Given the description of an element on the screen output the (x, y) to click on. 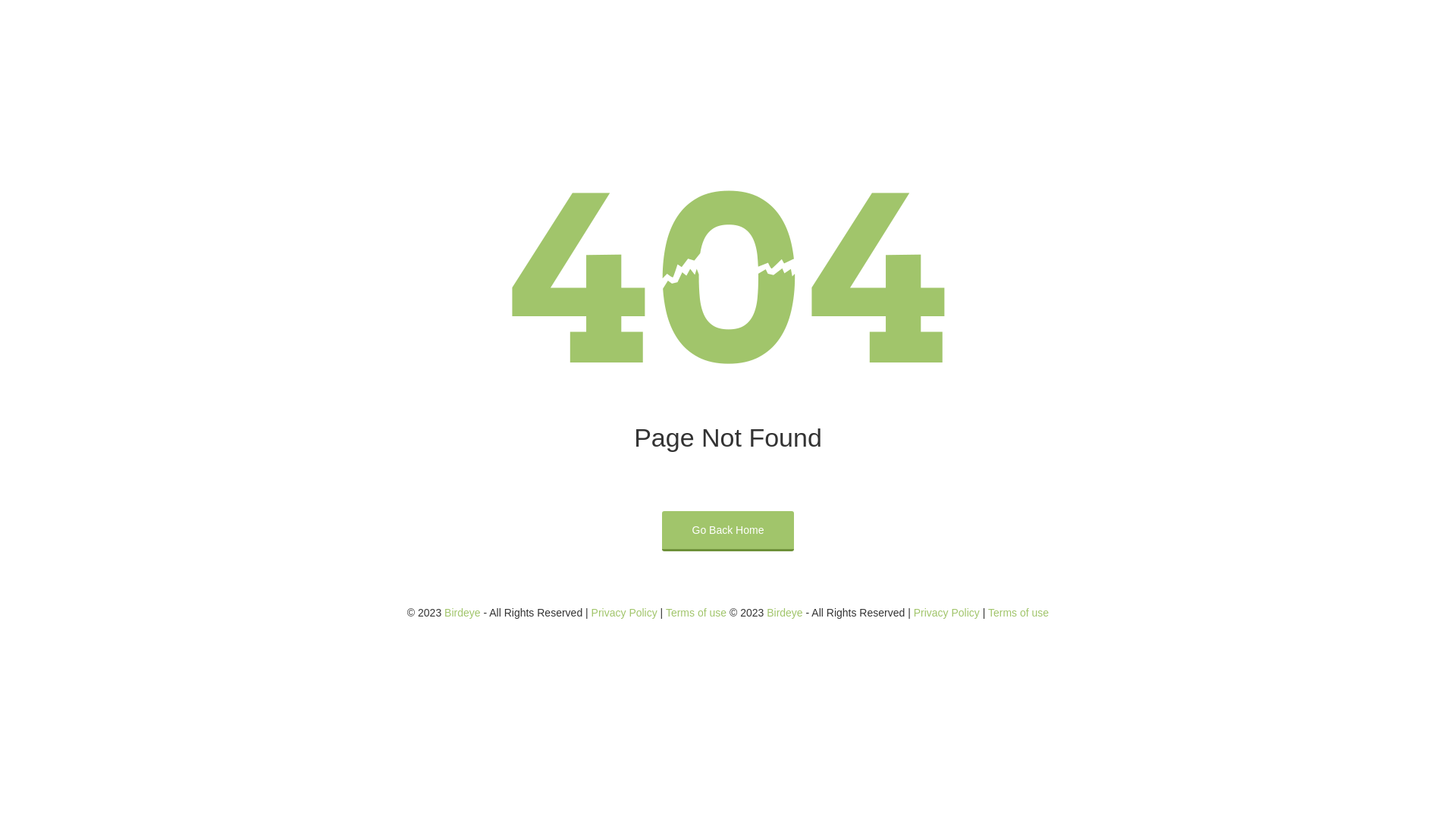
Terms of use Element type: text (695, 612)
Privacy Policy Element type: text (946, 612)
Birdeye Element type: text (784, 612)
Terms of use Element type: text (1018, 612)
Birdeye Element type: text (462, 612)
Privacy Policy Element type: text (624, 612)
Go Back Home Element type: text (728, 531)
